Given the description of an element on the screen output the (x, y) to click on. 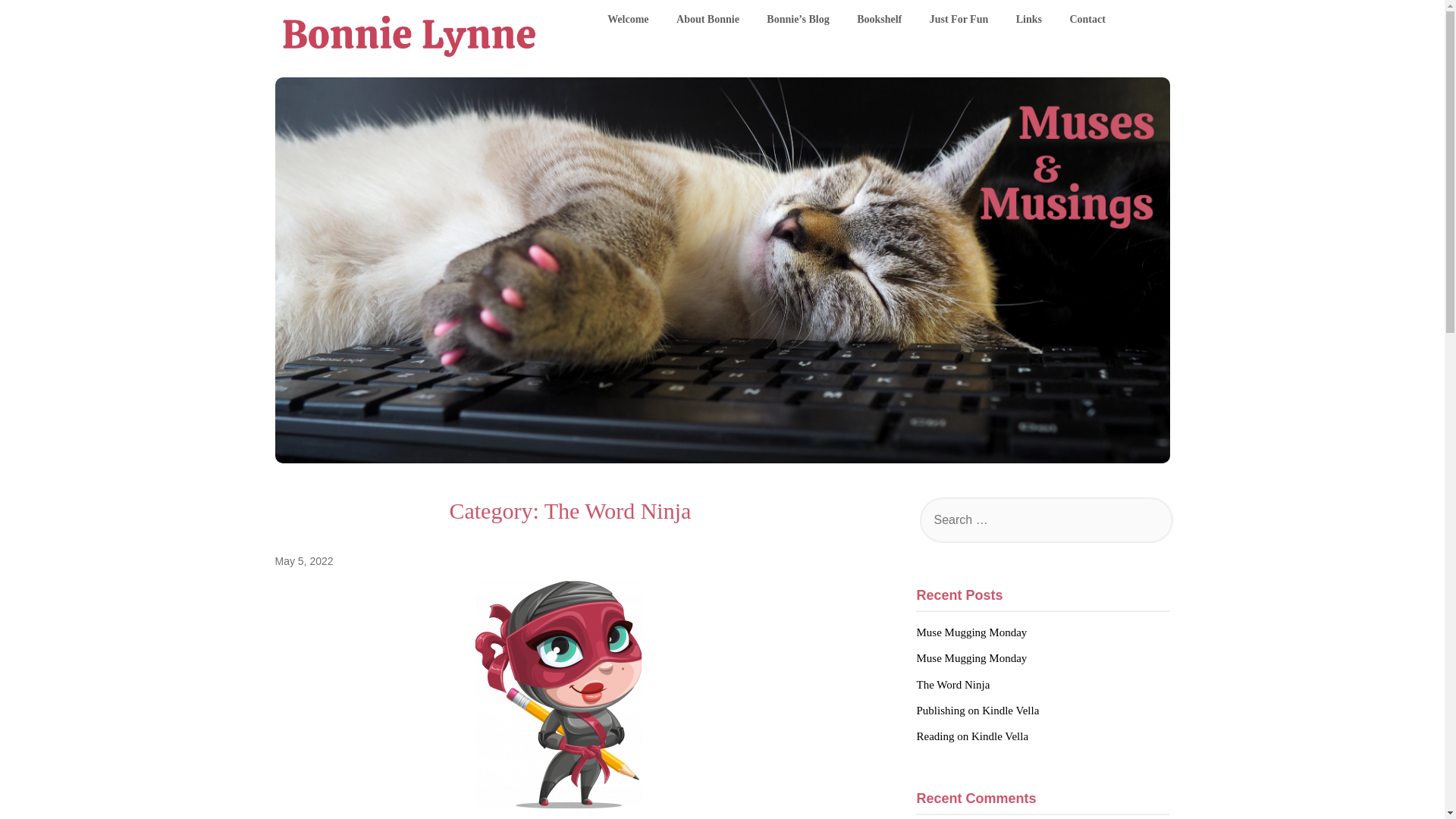
Bookshelf (879, 20)
Muse Mugging Monday (970, 632)
Just For Fun (959, 20)
Search (38, 22)
Reading on Kindle Vella (971, 736)
Muse Mugging Monday (970, 657)
Contact (1086, 20)
The Word Ninja (952, 684)
Welcome (628, 20)
Links (1029, 20)
